Given the description of an element on the screen output the (x, y) to click on. 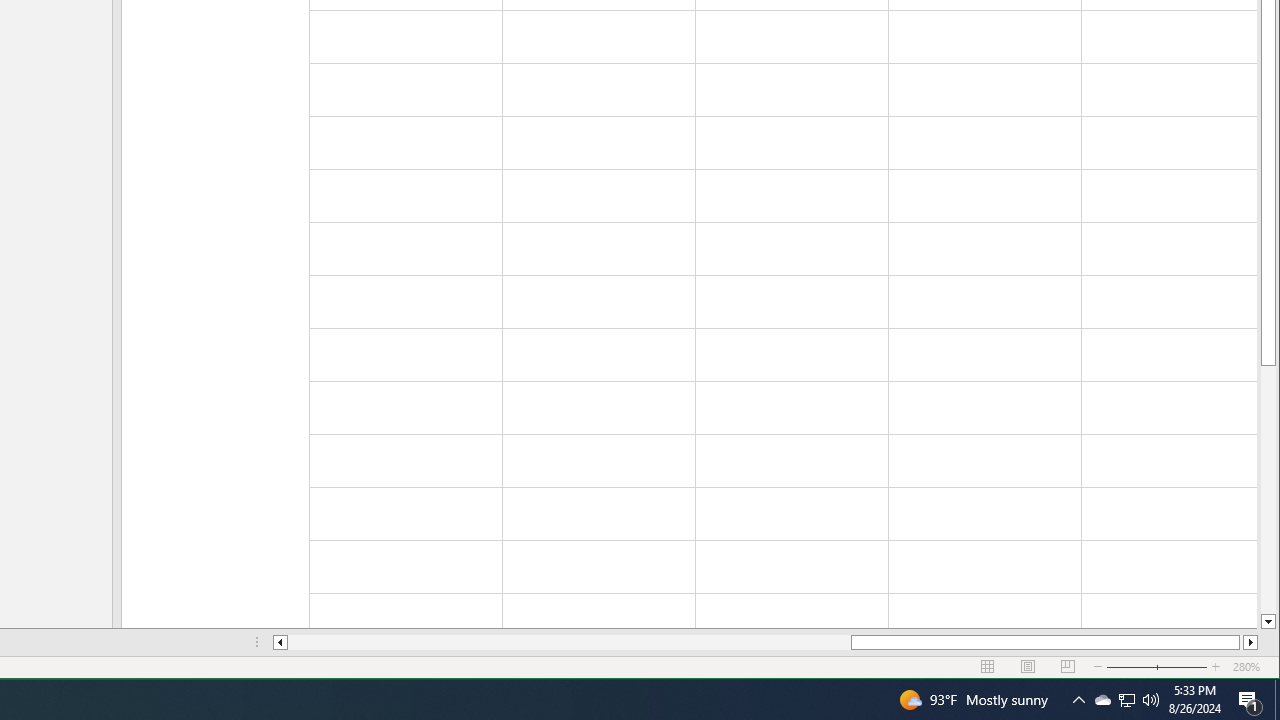
Page left (569, 642)
Show desktop (1277, 699)
